Given the description of an element on the screen output the (x, y) to click on. 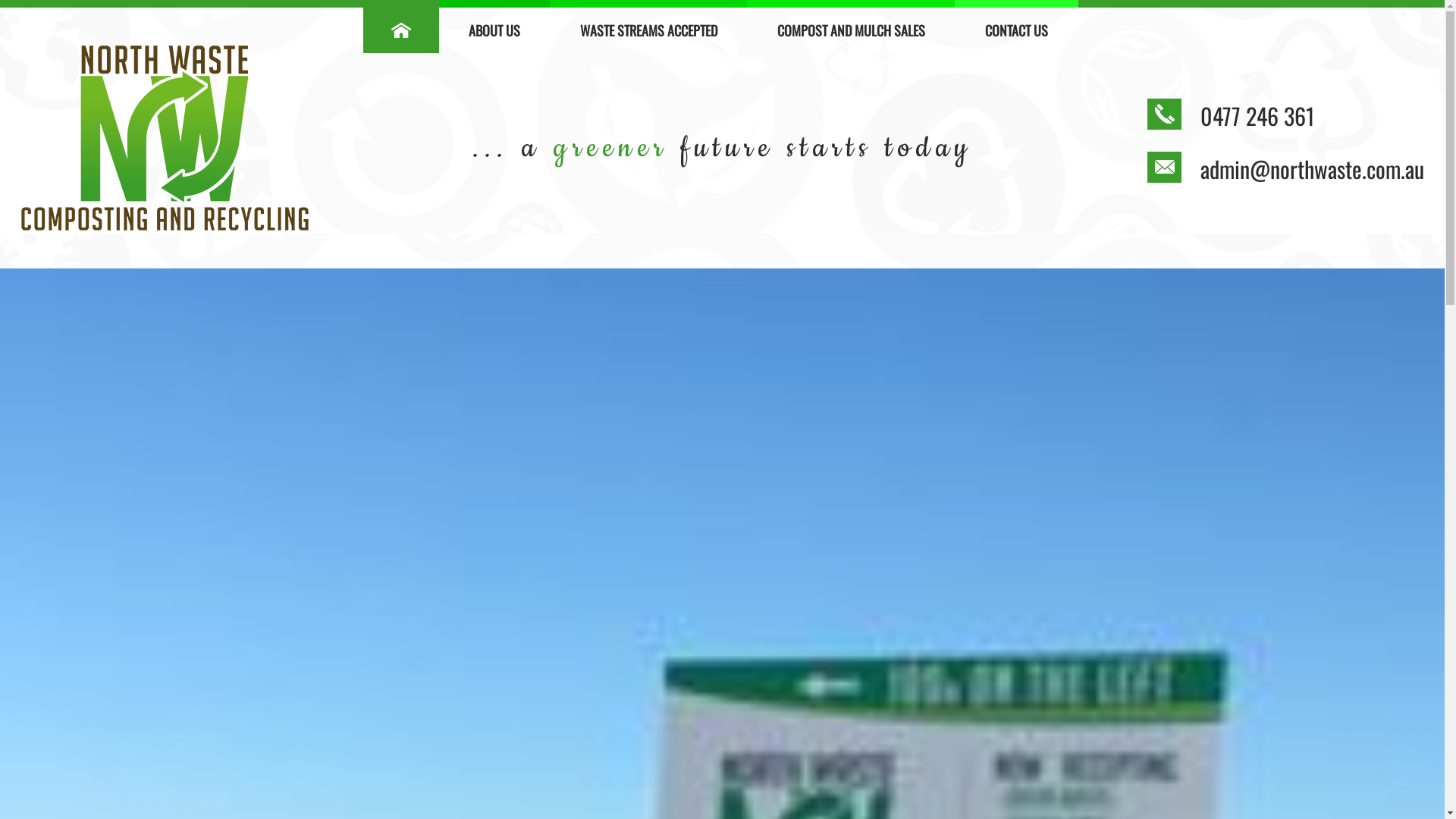
HOME Element type: text (401, 26)
COMPOST AND MULCH SALES Element type: text (850, 26)
ABOUT US Element type: text (494, 26)
admin@northwaste.com.au Element type: text (1311, 168)
WASTE STREAMS ACCEPTED Element type: text (648, 26)
CONTACT US Element type: text (1016, 26)
